Given the description of an element on the screen output the (x, y) to click on. 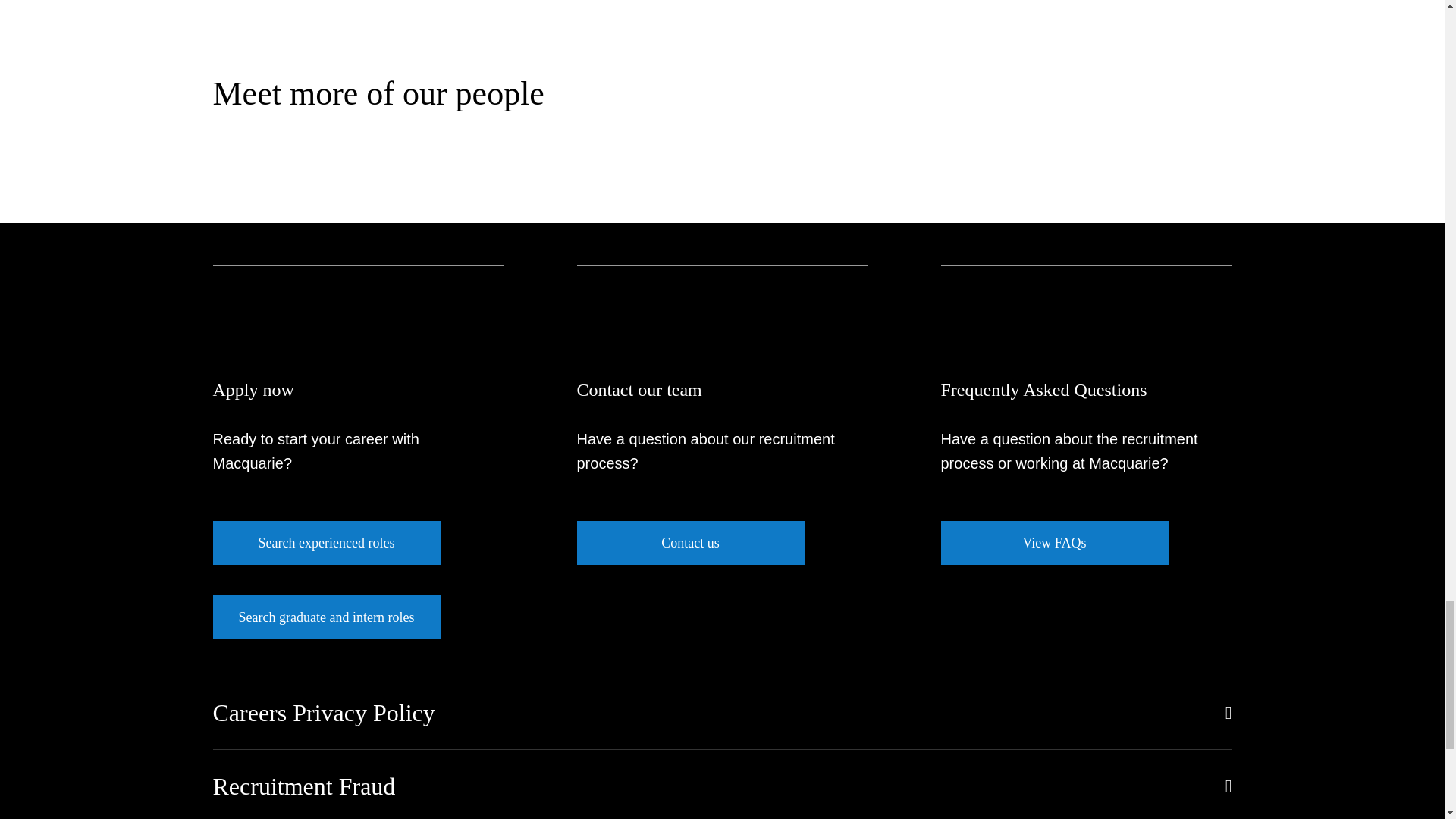
Search graduate and intern roles (325, 617)
View FAQs (1053, 542)
Search experienced roles (325, 542)
Contact us (689, 542)
